Given the description of an element on the screen output the (x, y) to click on. 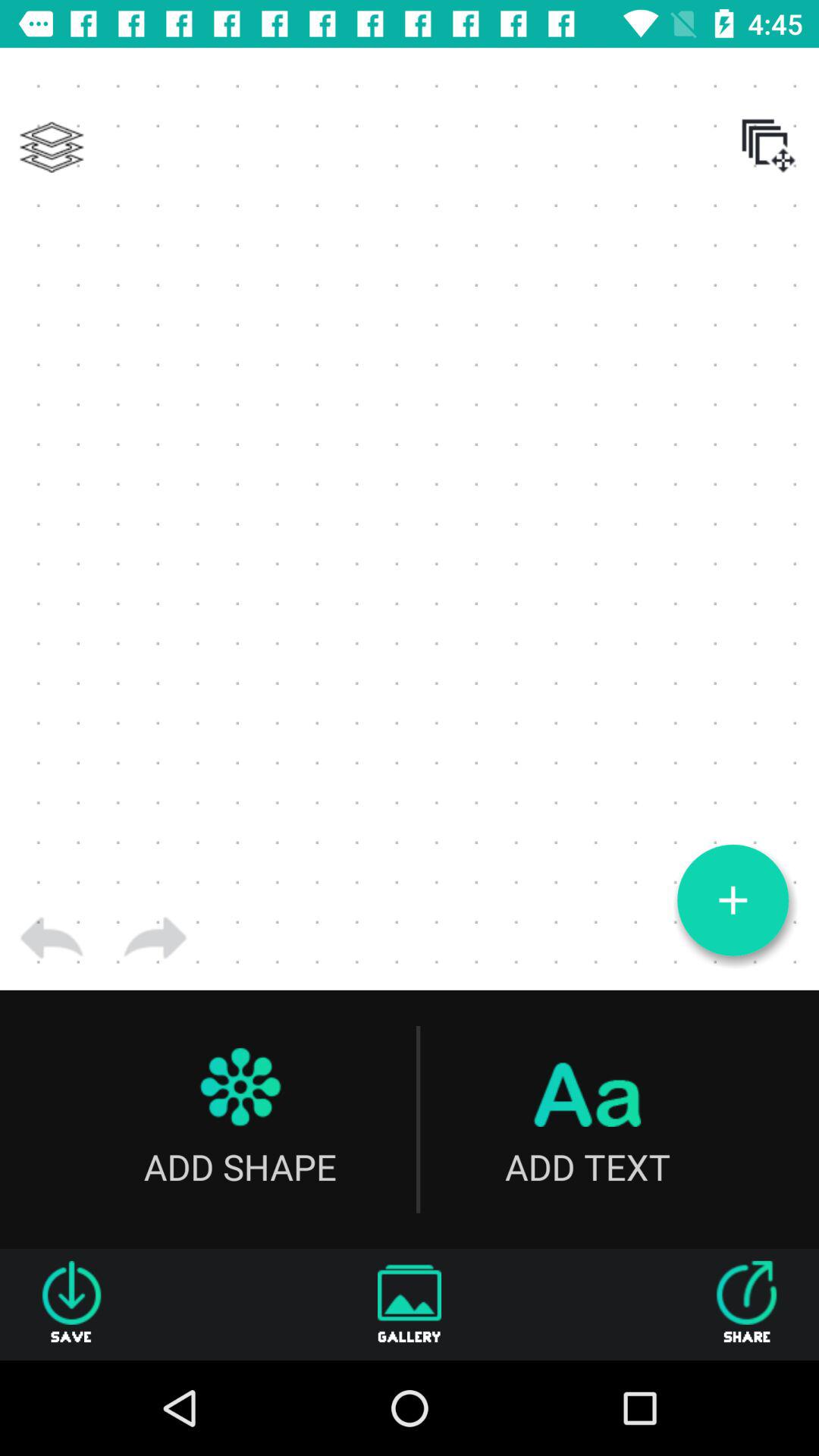
choose the share icon (747, 1304)
